Given the description of an element on the screen output the (x, y) to click on. 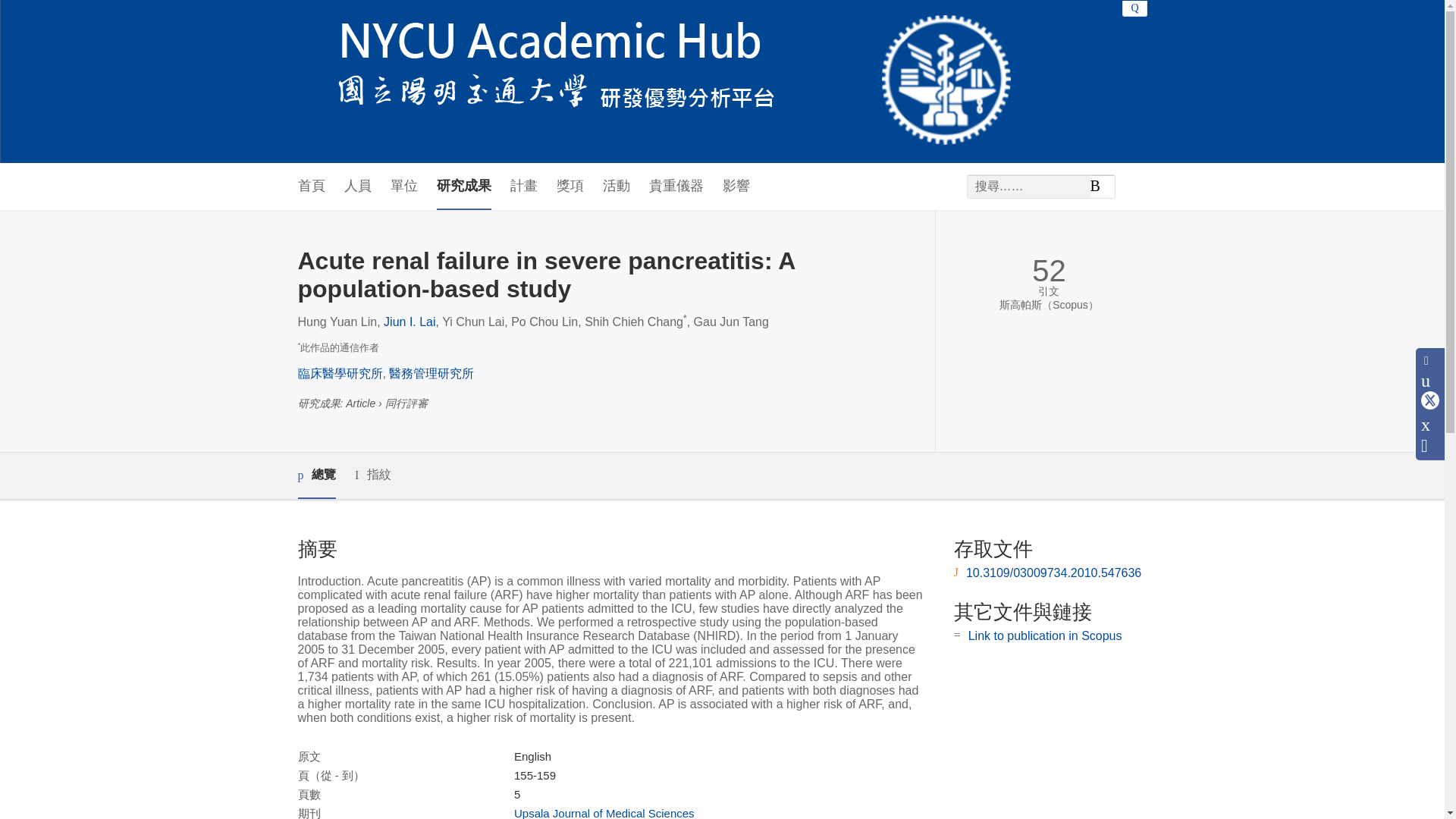
Upsala Journal of Medical Sciences (603, 812)
Jiun I. Lai (409, 321)
Link to publication in Scopus (1045, 635)
